Given the description of an element on the screen output the (x, y) to click on. 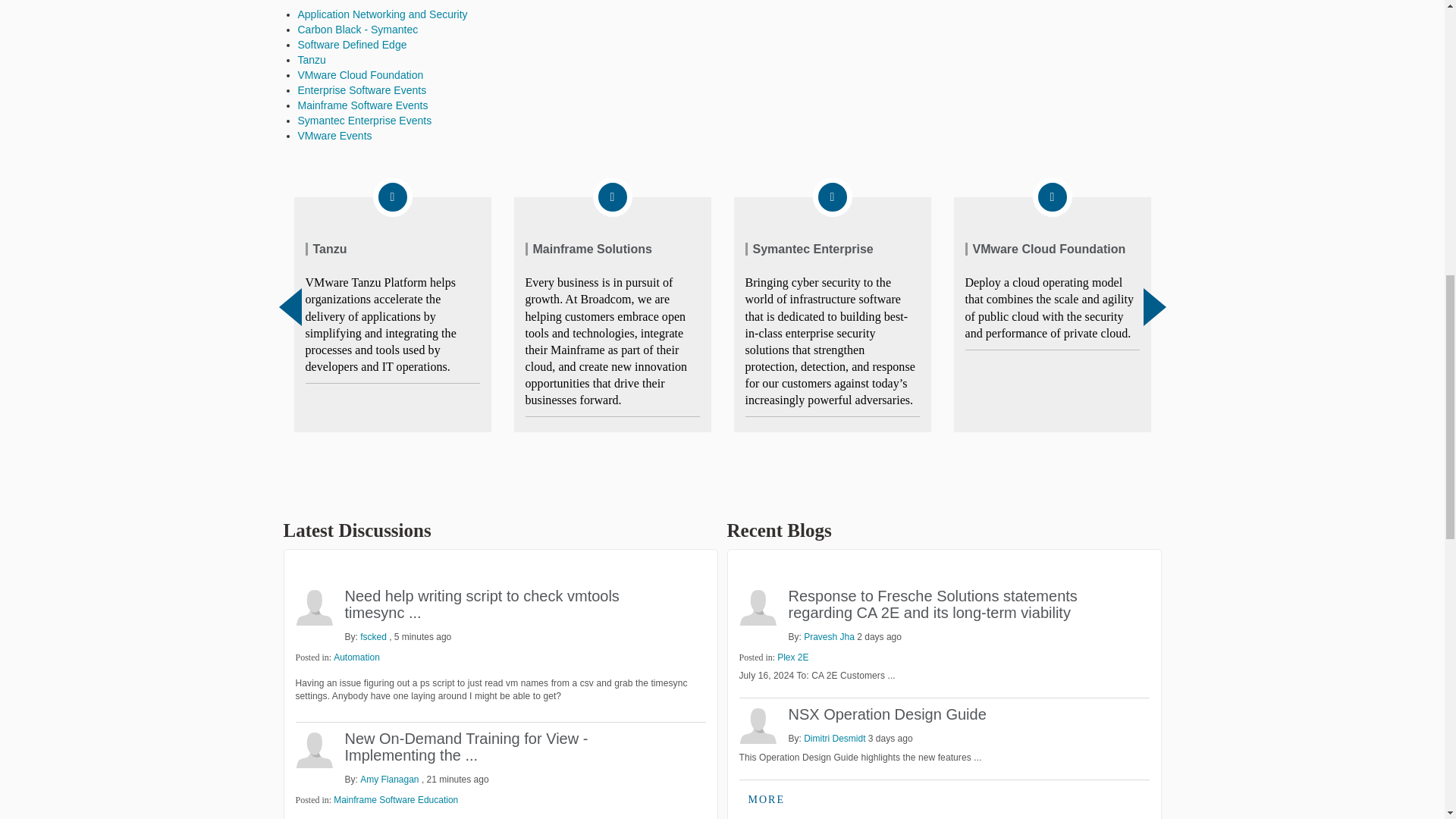
Pravesh Jha (757, 606)
View All Blog Posts (765, 799)
Automation (356, 656)
fscked (314, 606)
Mainframe Software Education (395, 799)
NSX Operation Design Guide (888, 713)
Dimitri Desmidt (757, 724)
Amy Flanagan (314, 749)
Need help writing script to check vmtools timesync settings (480, 604)
